Given the description of an element on the screen output the (x, y) to click on. 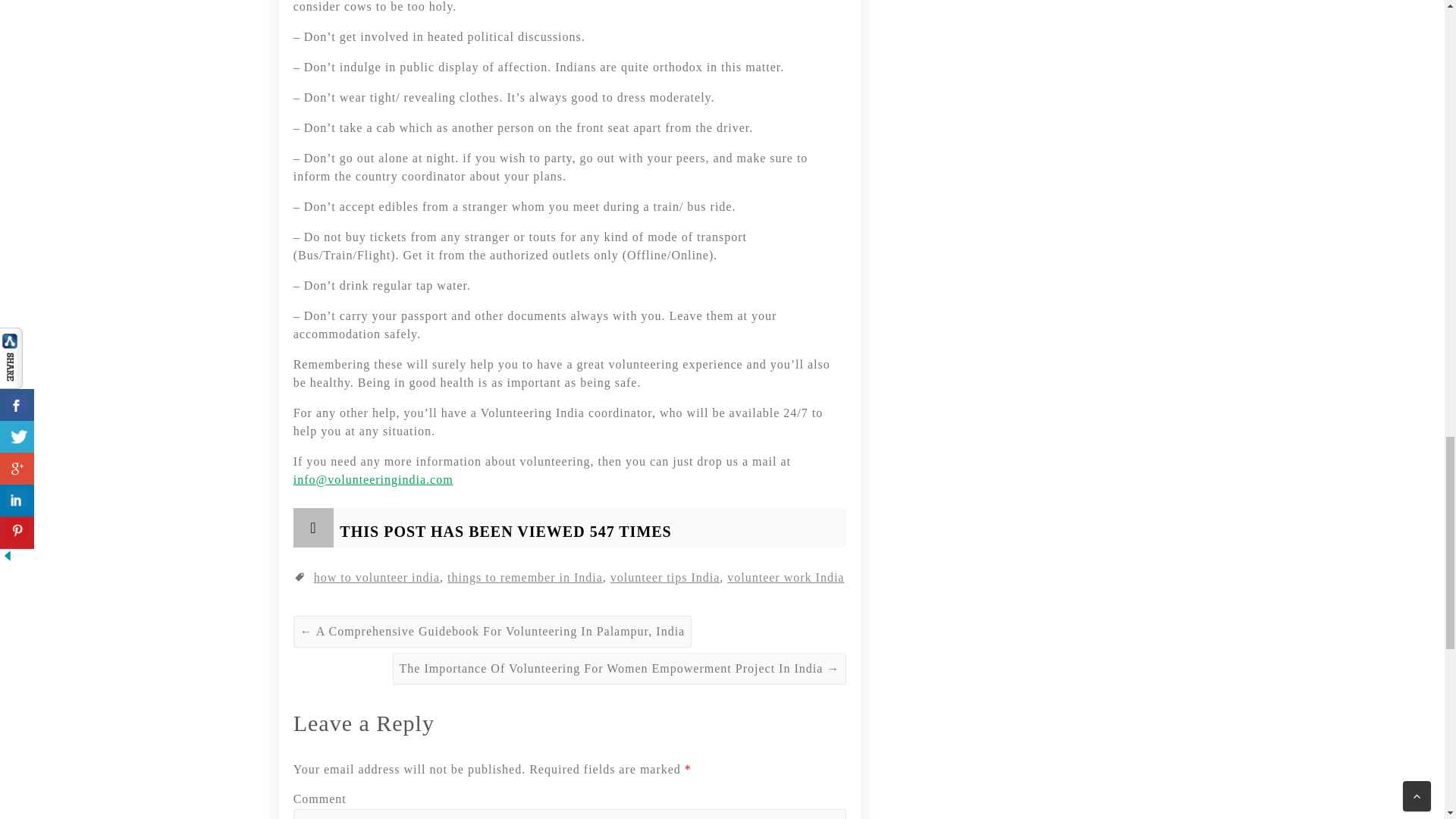
how to volunteer india (376, 576)
things to remember in India (524, 576)
volunteer tips India (664, 576)
volunteer work India (785, 576)
